Given the description of an element on the screen output the (x, y) to click on. 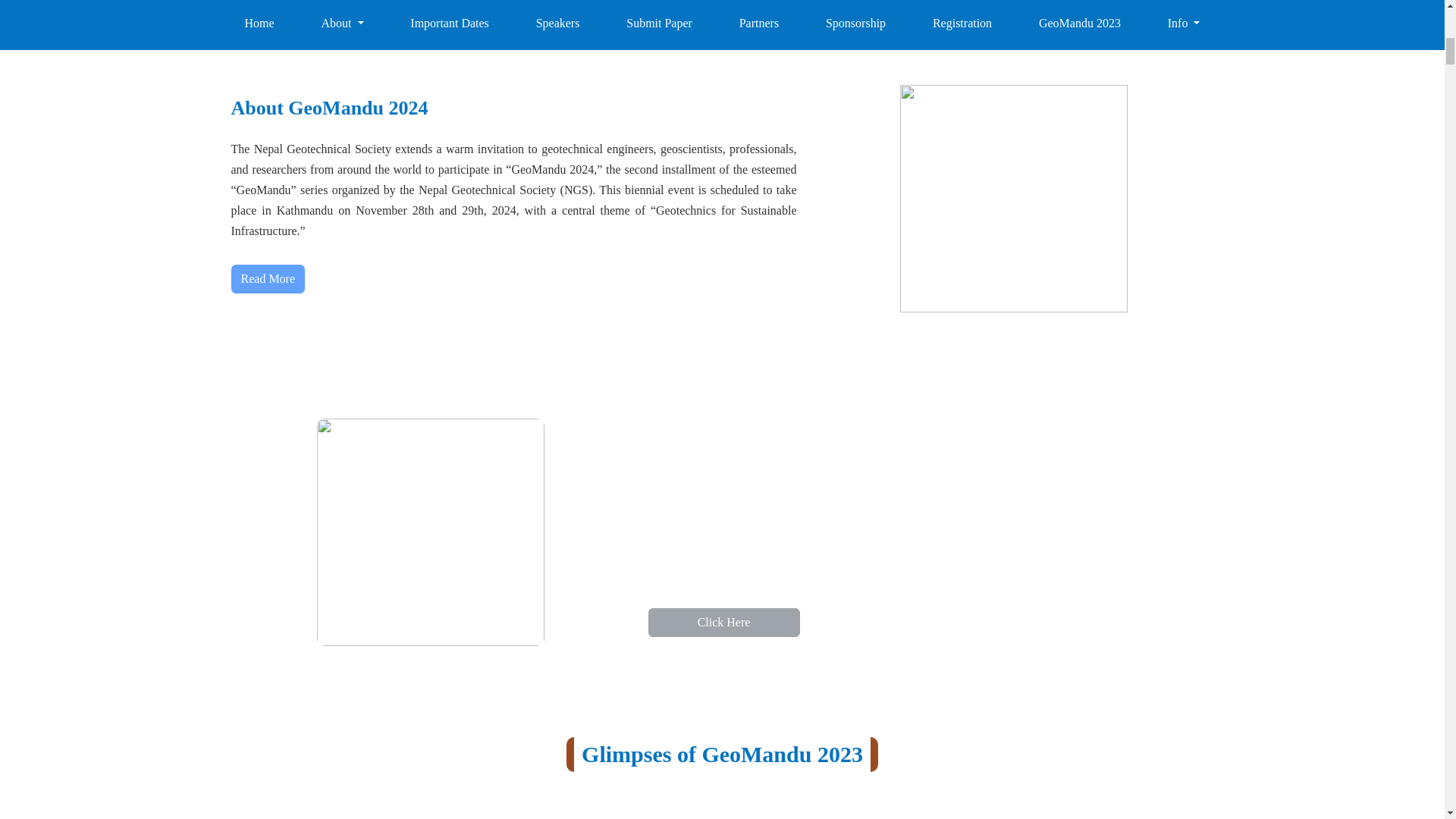
YouTube video player (721, 804)
